Given the description of an element on the screen output the (x, y) to click on. 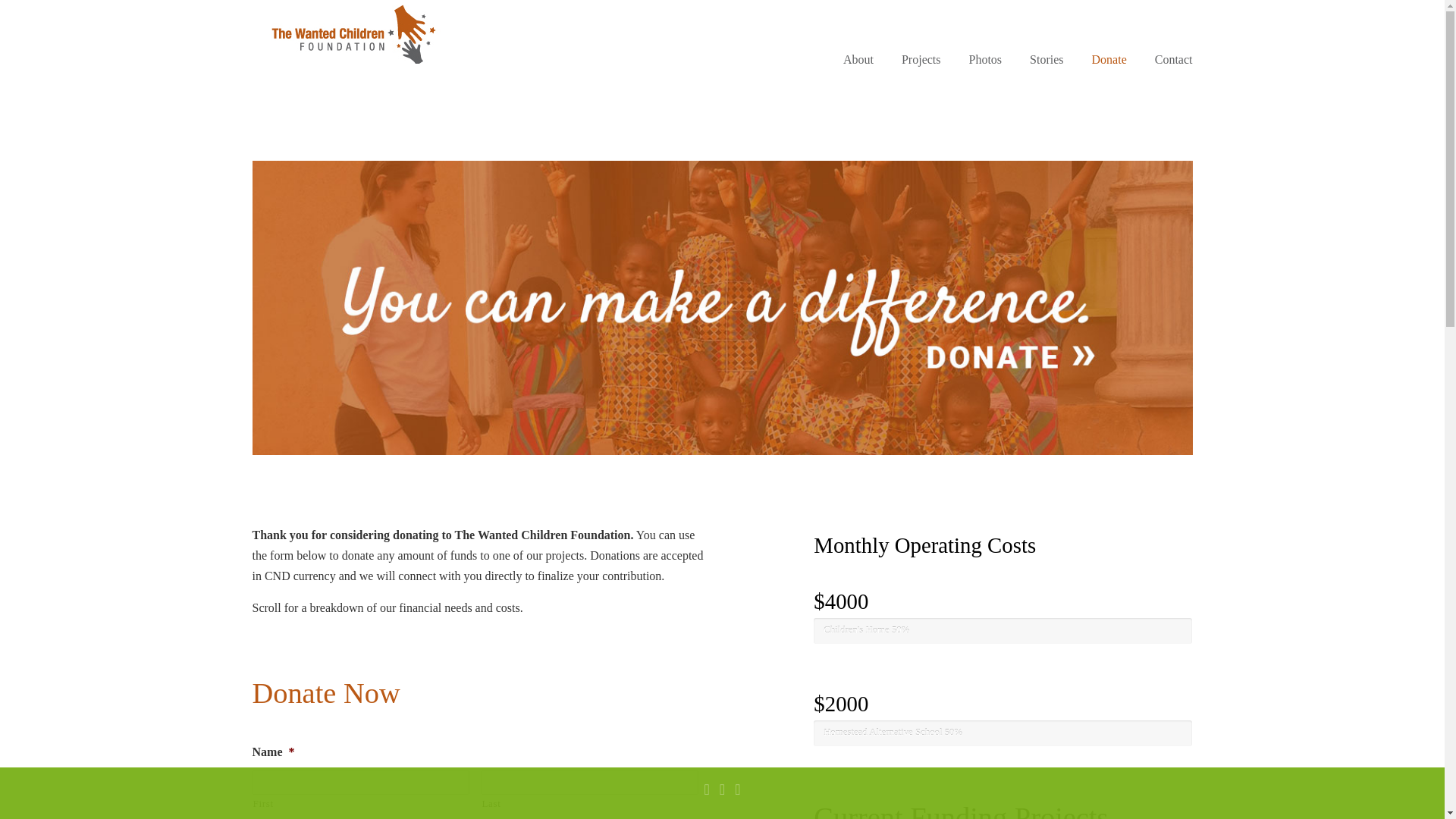
Photos (985, 60)
Projects (921, 60)
Contact (1174, 60)
About (858, 60)
Donate (1109, 60)
Stories (1046, 60)
